Given the description of an element on the screen output the (x, y) to click on. 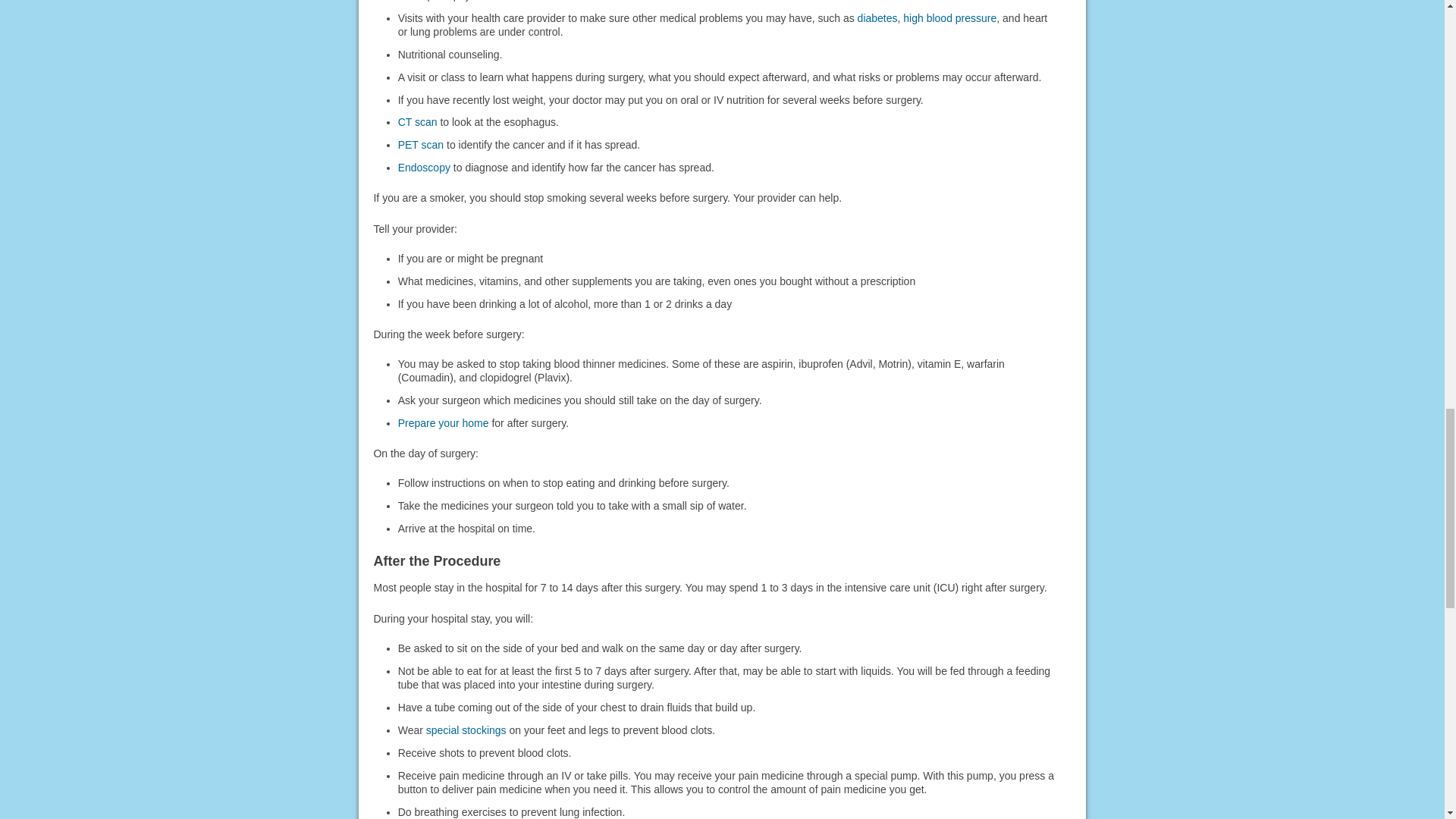
diabetes (877, 18)
high blood pressure (948, 18)
